Given the description of an element on the screen output the (x, y) to click on. 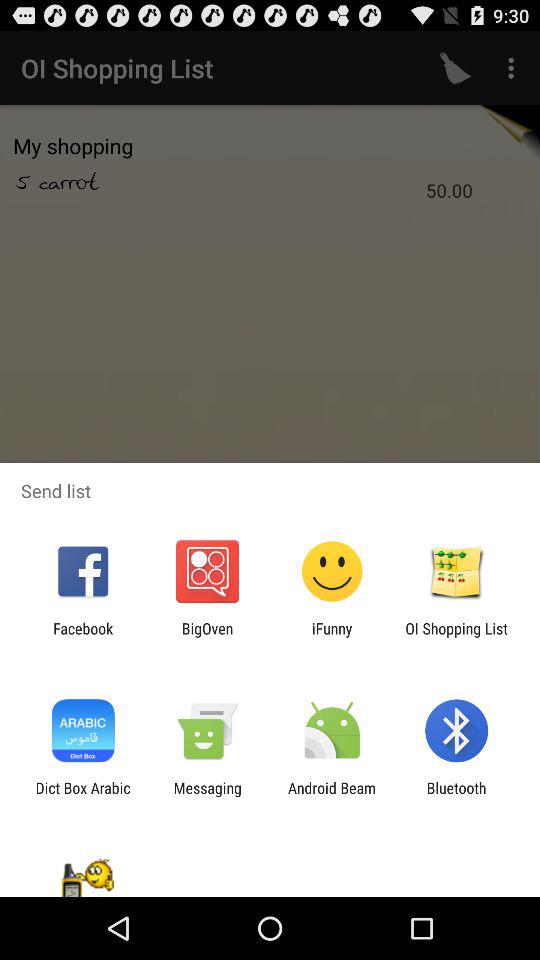
tap icon to the right of facebook item (207, 637)
